Given the description of an element on the screen output the (x, y) to click on. 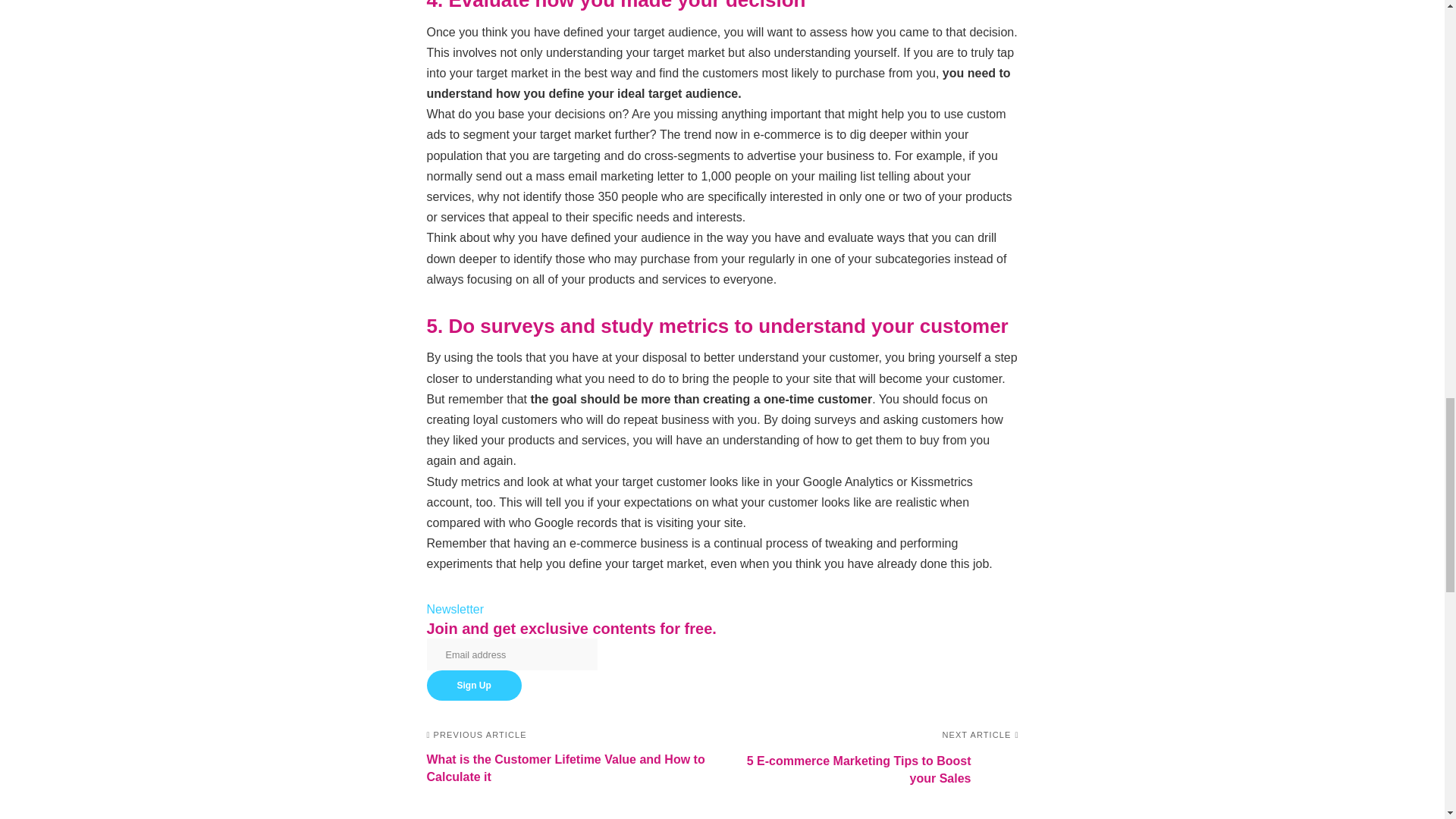
Sign Up (473, 685)
